Given the description of an element on the screen output the (x, y) to click on. 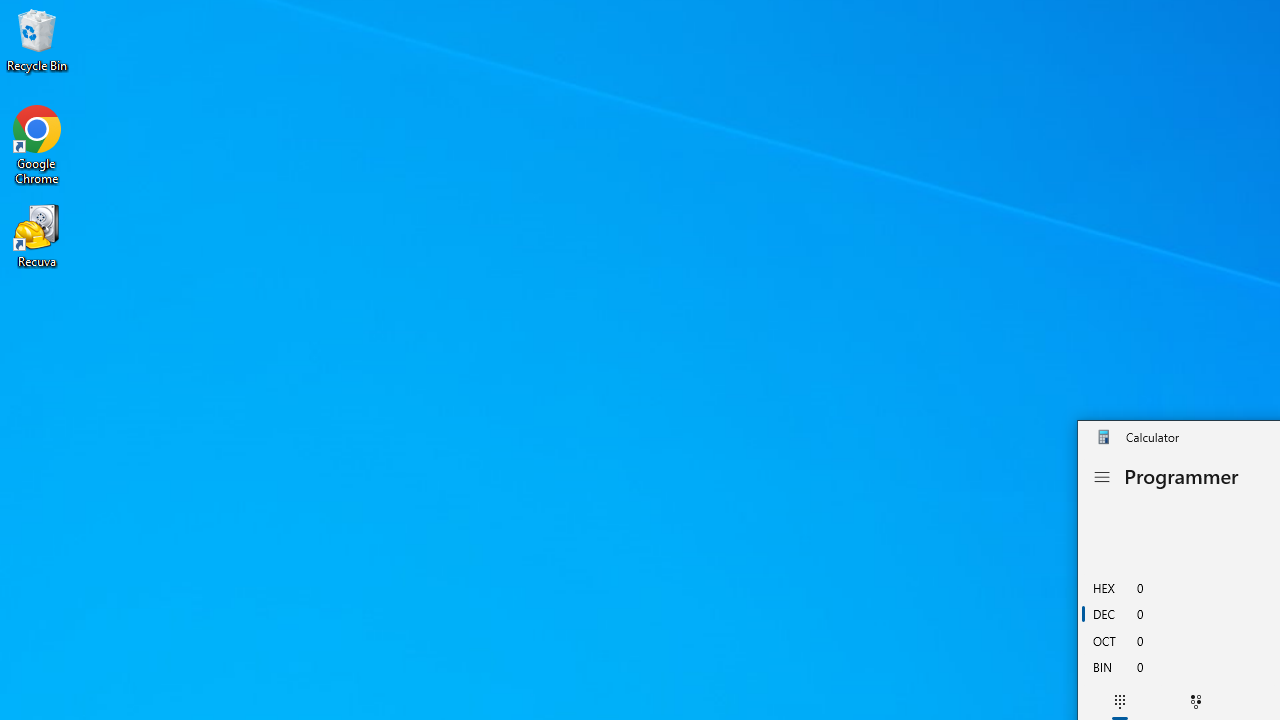
Open Navigation (1101, 477)
Full keypad (1119, 702)
Bit toggling keypad (1195, 702)
